Given the description of an element on the screen output the (x, y) to click on. 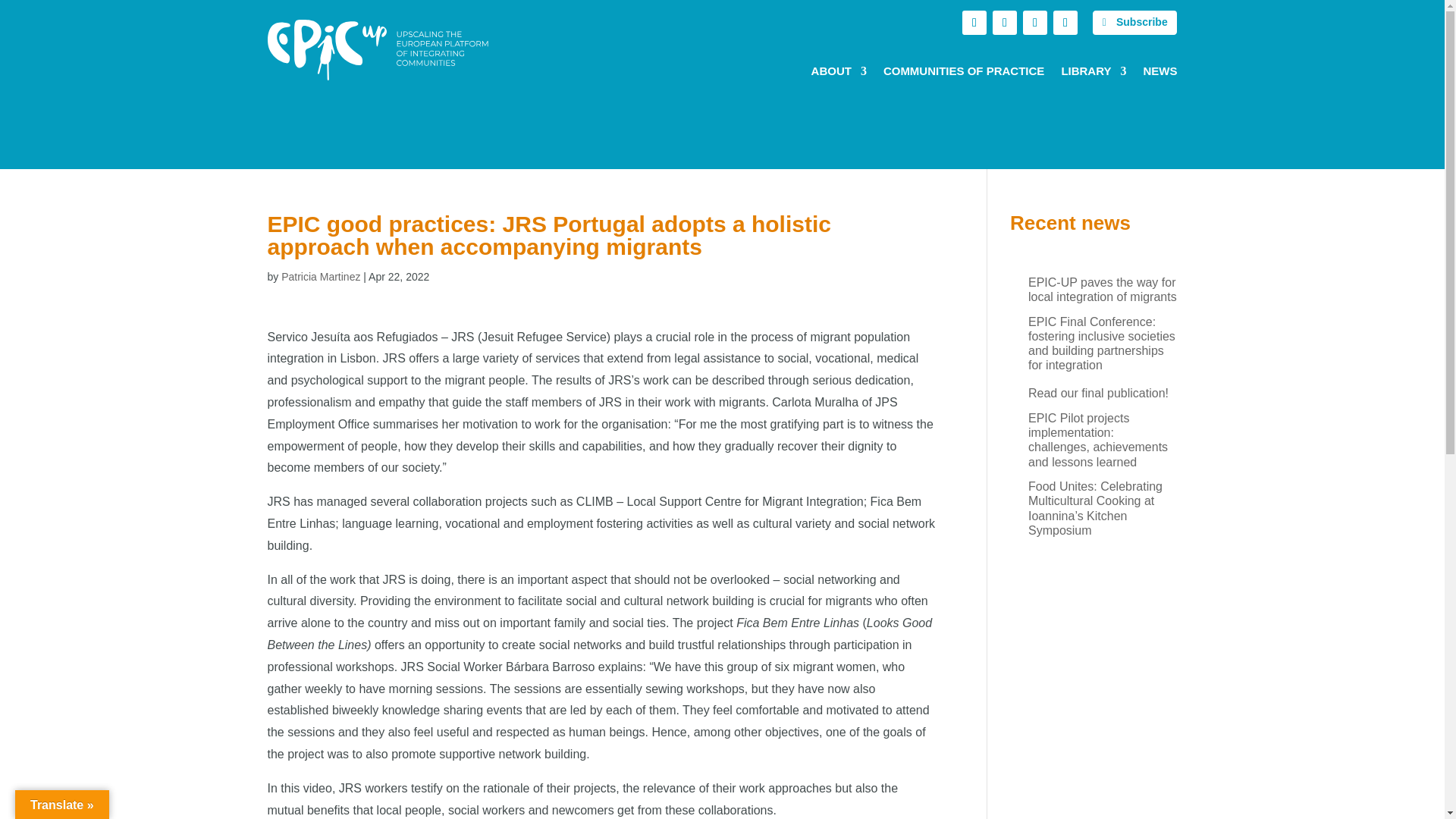
Patricia Martinez (320, 276)
Subscribe (1135, 22)
NEWS (1159, 75)
COMMUNITIES OF PRACTICE (964, 75)
LIBRARY (1093, 75)
Follow on Facebook (1004, 22)
Posts by Patricia Martinez (320, 276)
Follow on LinkedIn (1034, 22)
EPIC-UP paves the way for local integration of migrants (1093, 289)
Read our final publication! (1089, 392)
Follow on Youtube (1064, 22)
ABOUT (838, 75)
Follow on X (974, 22)
